Given the description of an element on the screen output the (x, y) to click on. 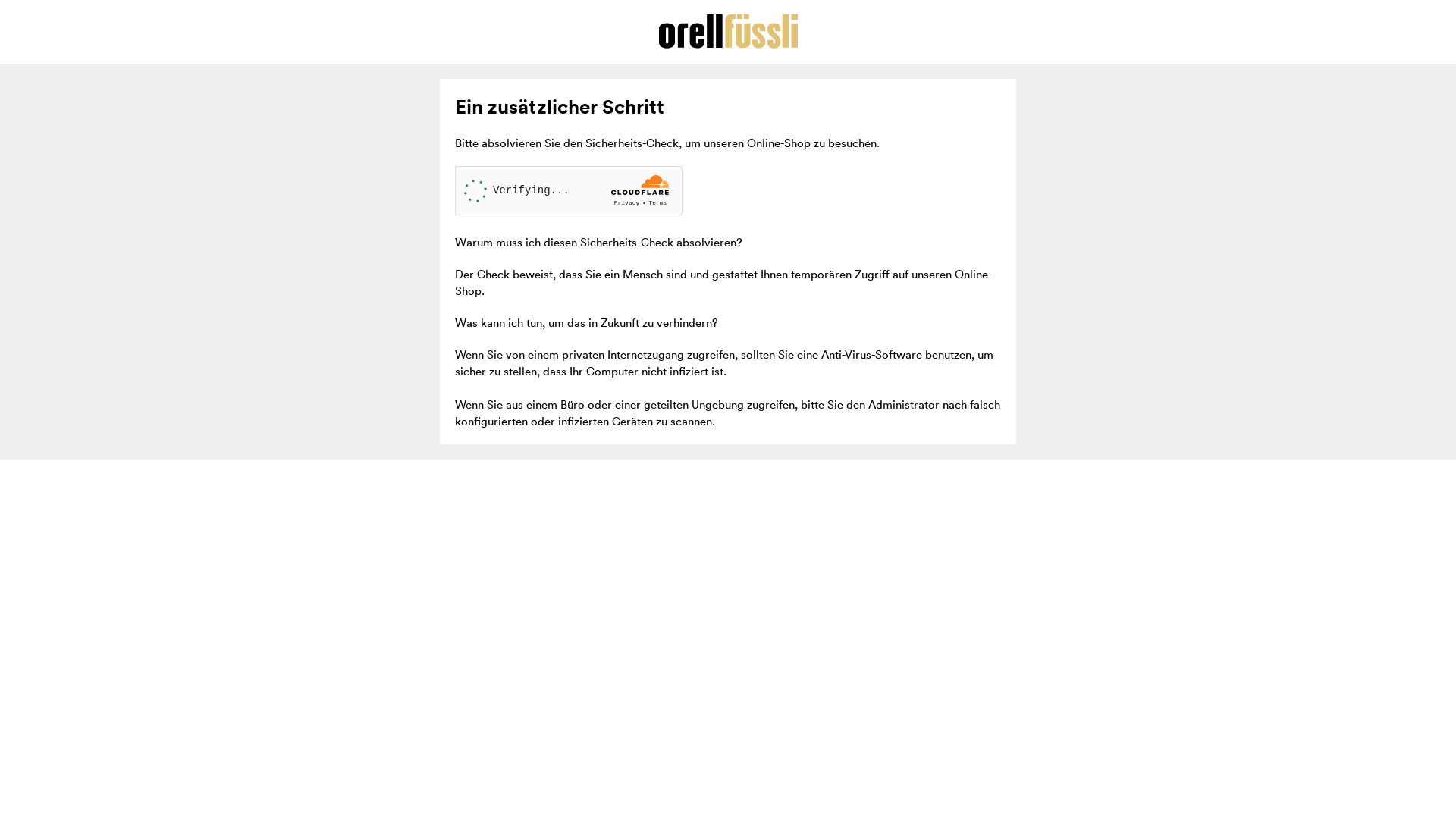
Widget containing a Cloudflare security challenge Element type: hover (568, 190)
